Given the description of an element on the screen output the (x, y) to click on. 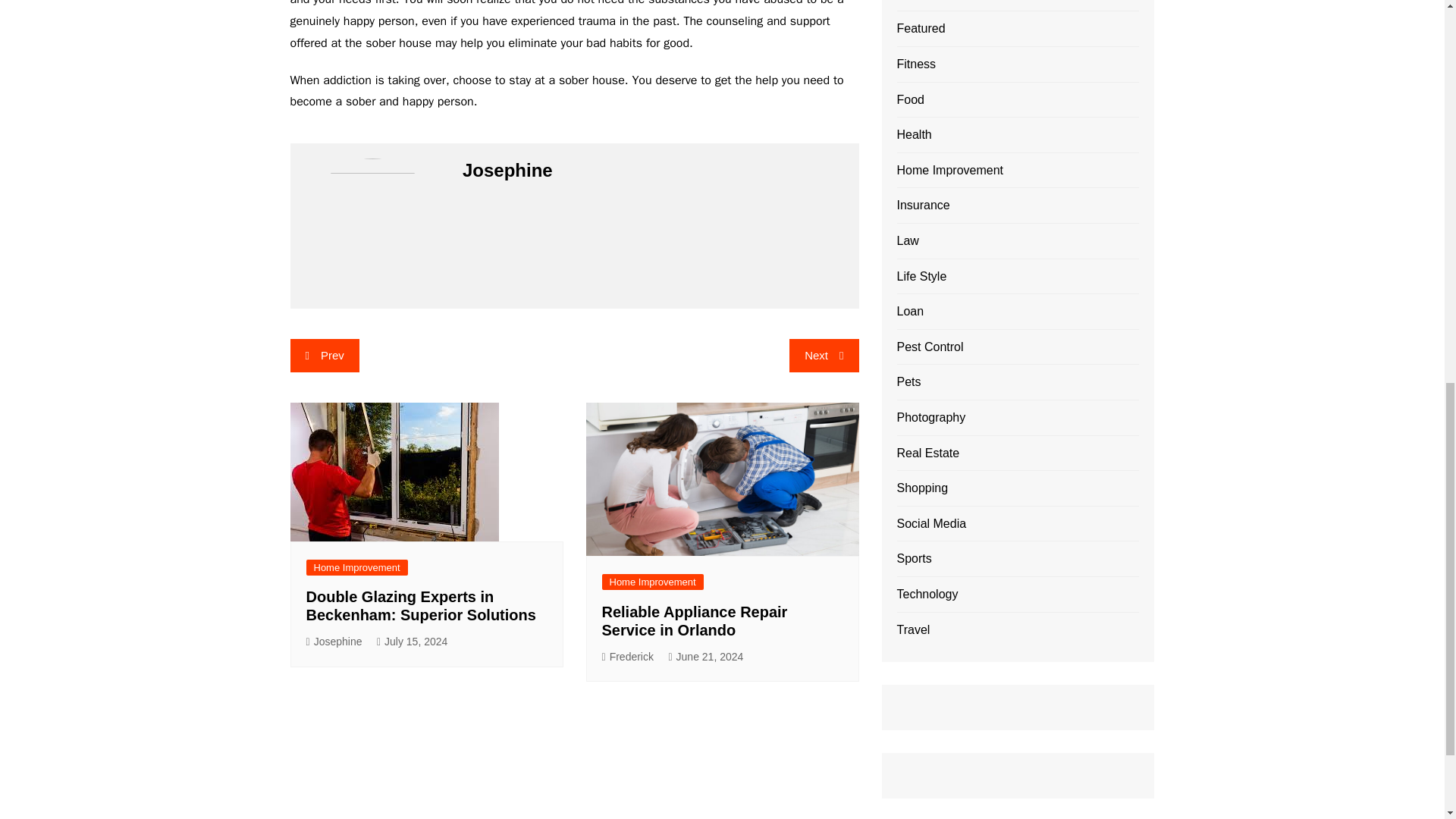
Josephine (333, 641)
Reliable Appliance Repair Service in Orlando (694, 620)
Frederick (627, 656)
Next (824, 355)
June 21, 2024 (705, 656)
July 15, 2024 (411, 641)
Prev (323, 355)
Home Improvement (652, 581)
Home Improvement (356, 567)
Double Glazing Experts in Beckenham: Superior Solutions (420, 605)
